Given the description of an element on the screen output the (x, y) to click on. 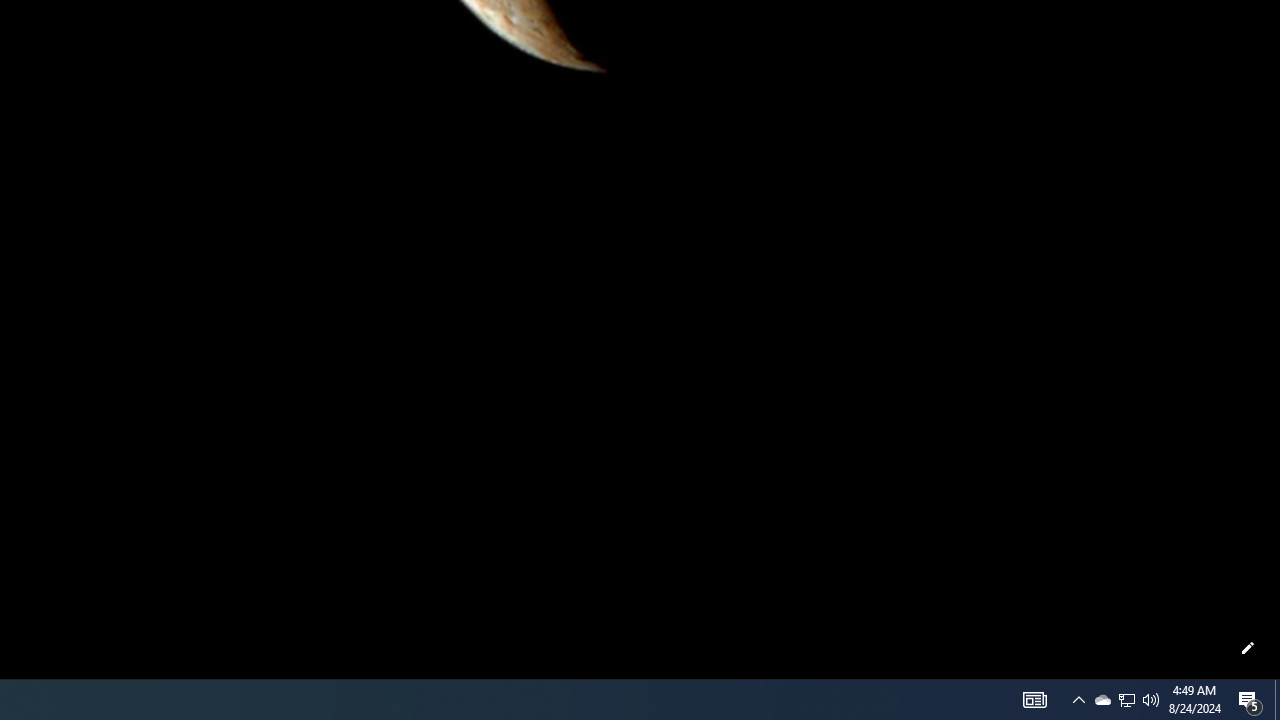
Customize this page (1247, 647)
